Given the description of an element on the screen output the (x, y) to click on. 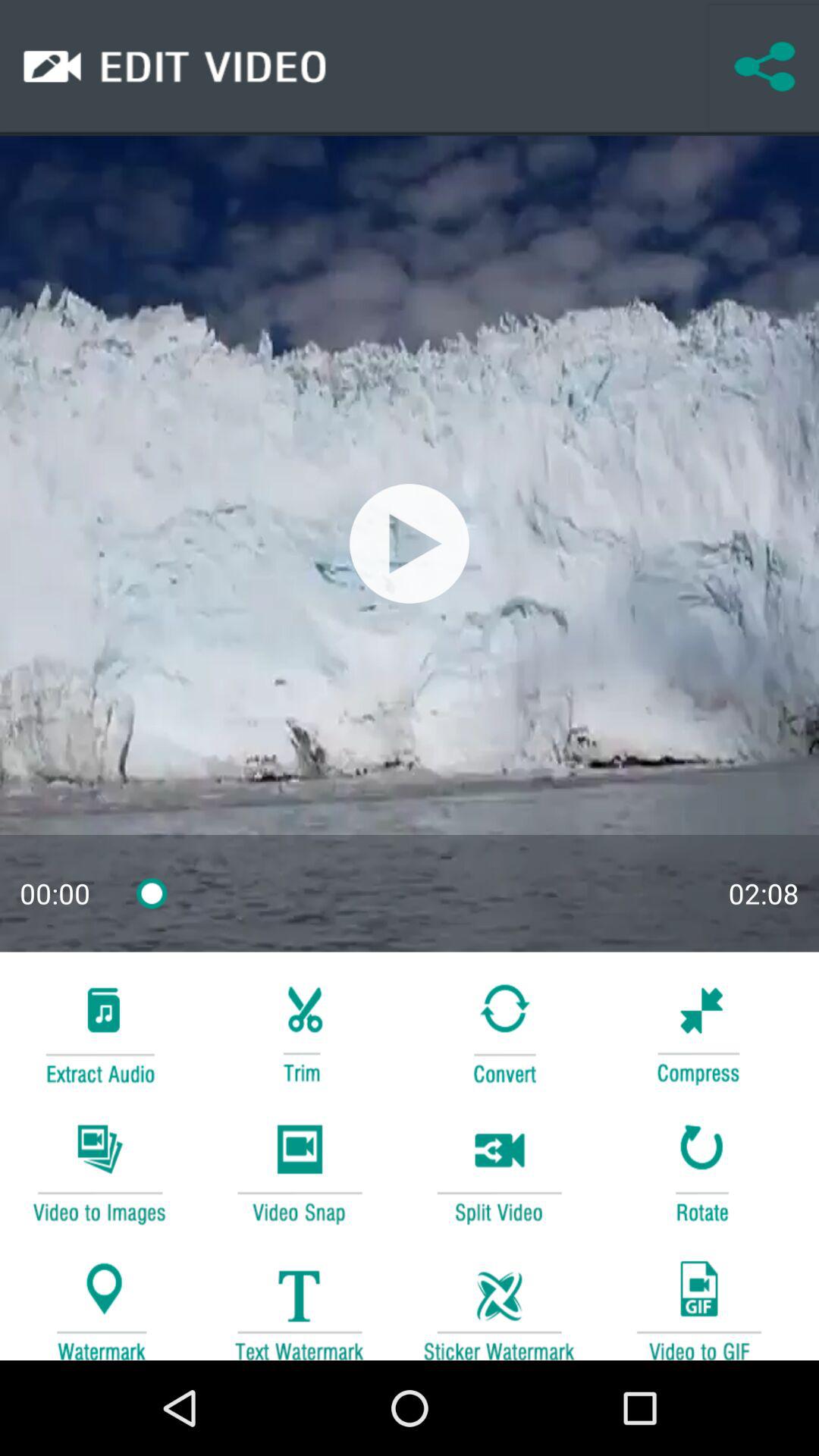
video to images (99, 1171)
